Given the description of an element on the screen output the (x, y) to click on. 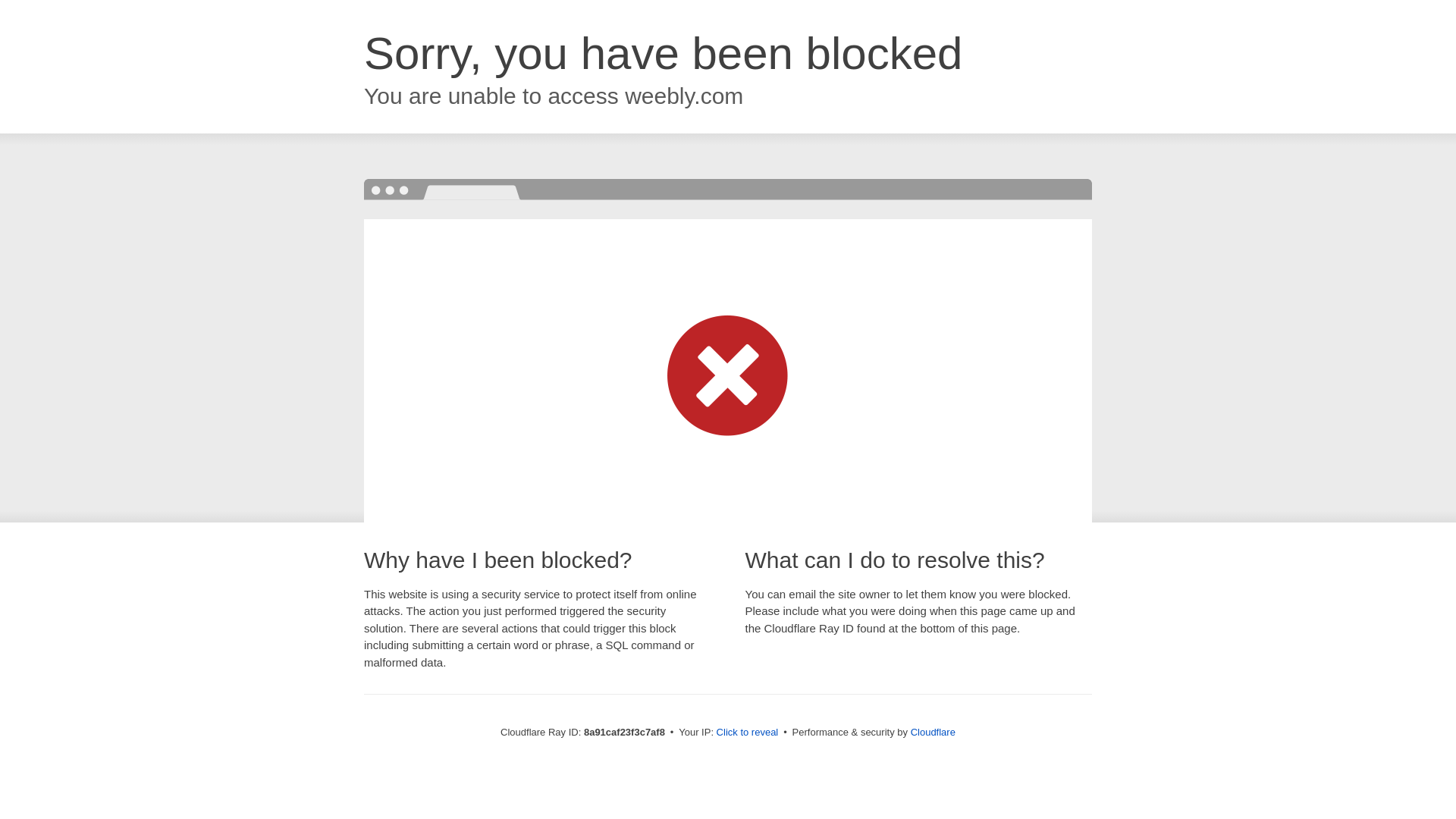
Cloudflare (933, 731)
Click to reveal (747, 732)
